Given the description of an element on the screen output the (x, y) to click on. 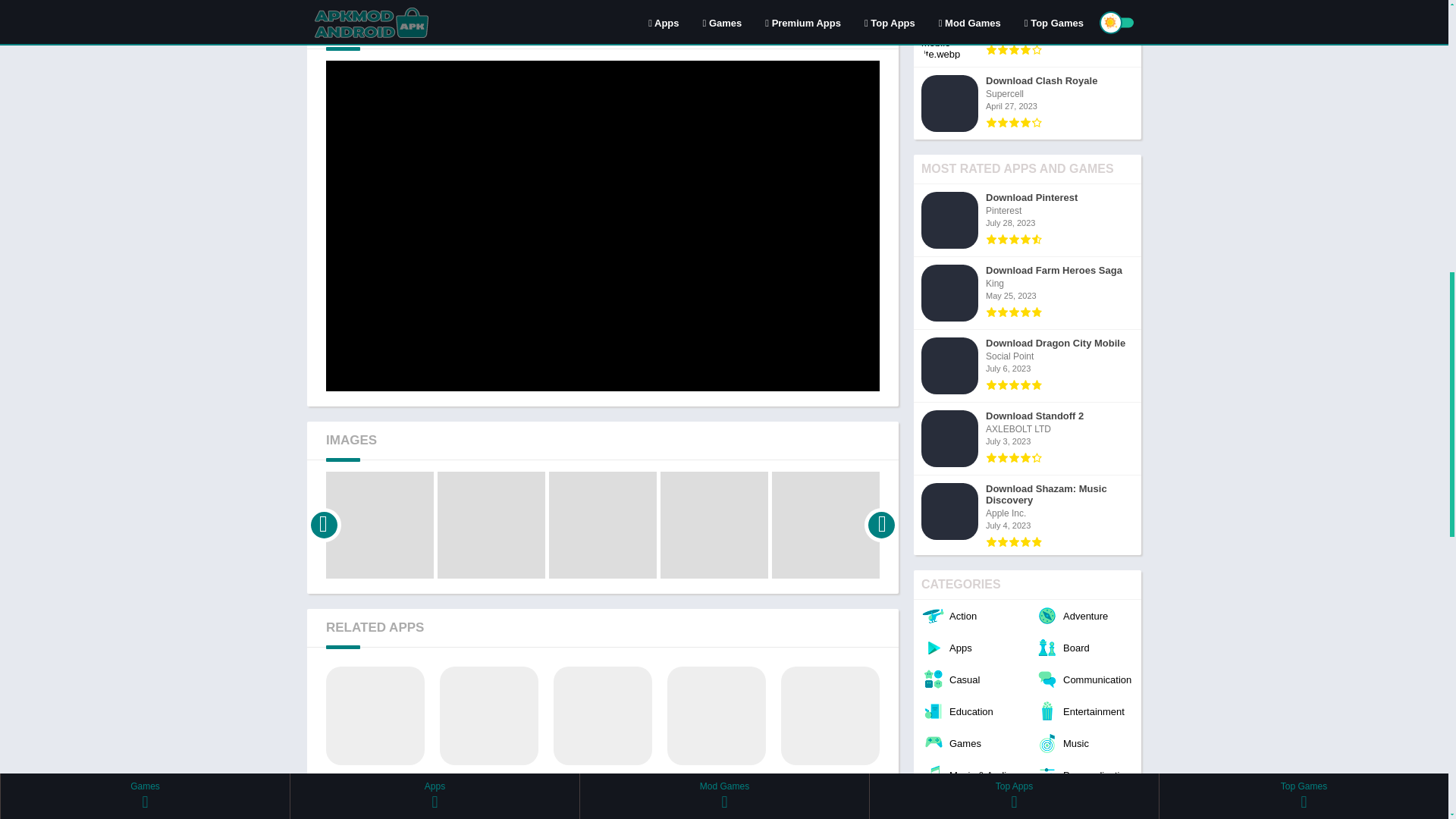
Download ice: Decentralized Future (488, 742)
